Given the description of an element on the screen output the (x, y) to click on. 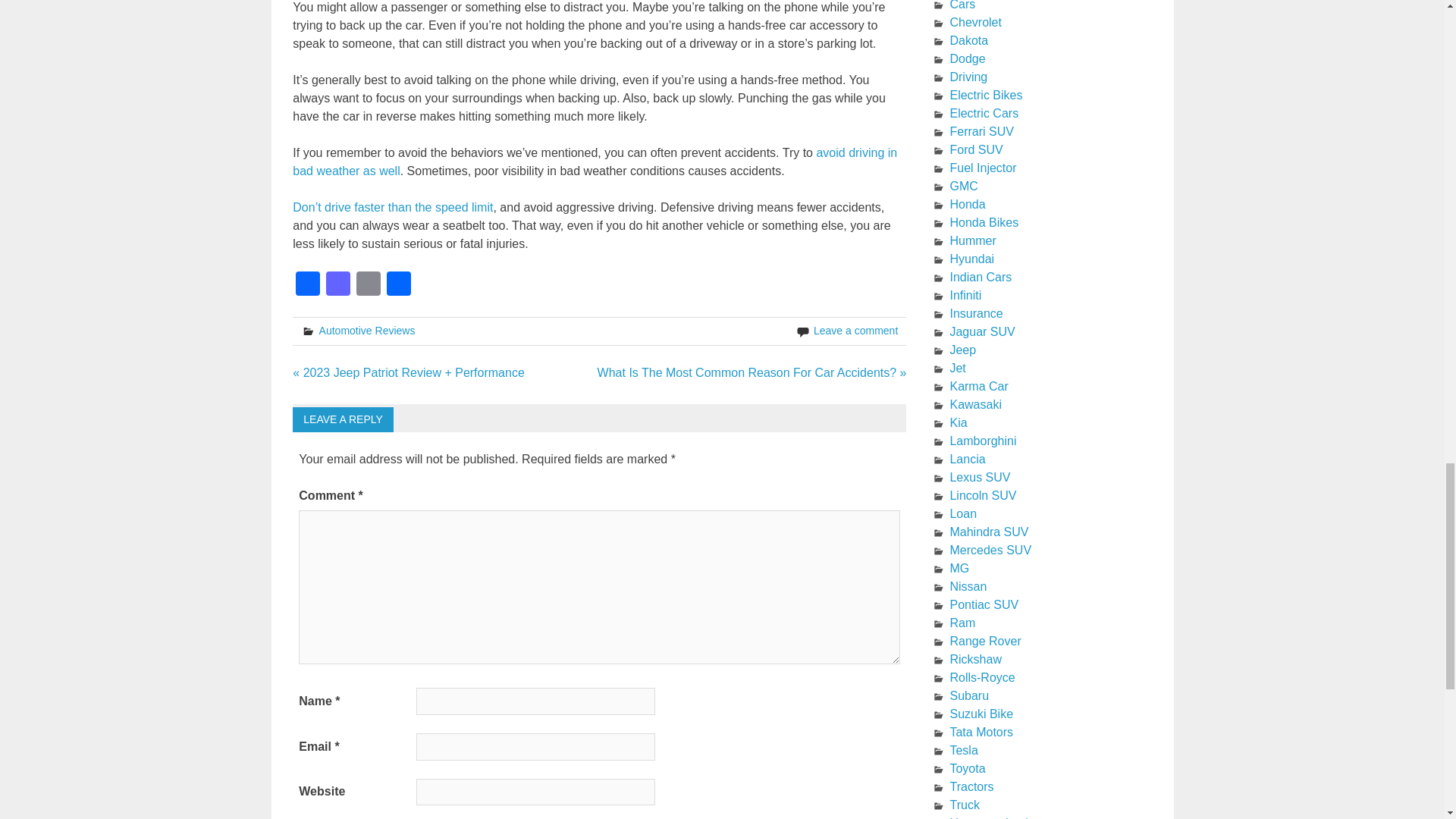
Email (368, 285)
Mastodon (338, 285)
Facebook (307, 285)
Leave a comment (855, 330)
Email (368, 285)
 avoid driving in bad weather as well (594, 161)
Mastodon (338, 285)
Facebook (307, 285)
Automotive Reviews (366, 330)
